Given the description of an element on the screen output the (x, y) to click on. 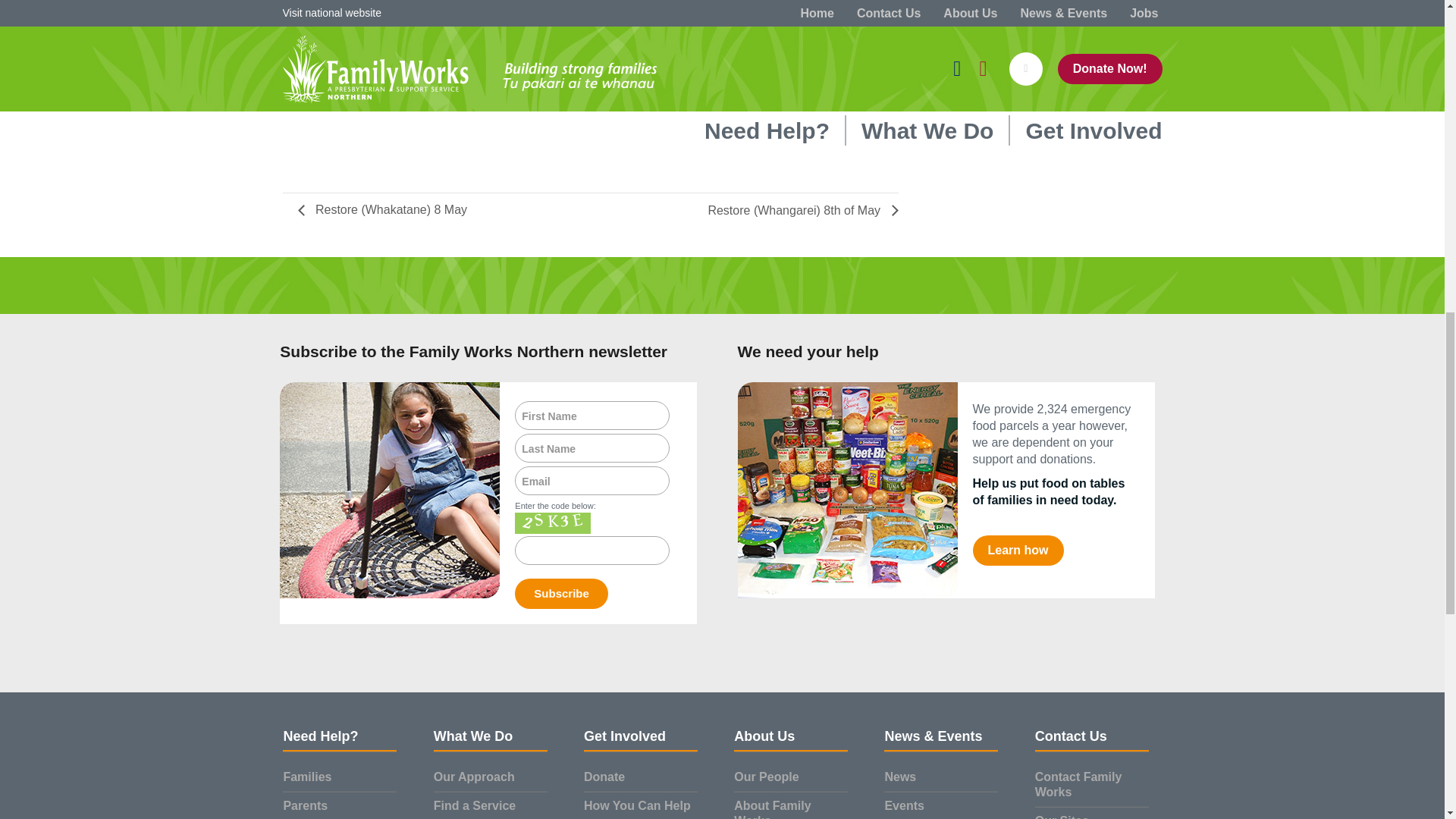
Sign up to Family Works Angel eNews (389, 490)
food-bank (846, 490)
2017-07-03 (363, 105)
Subscribe (561, 593)
2017-05-08 (368, 90)
